Given the description of an element on the screen output the (x, y) to click on. 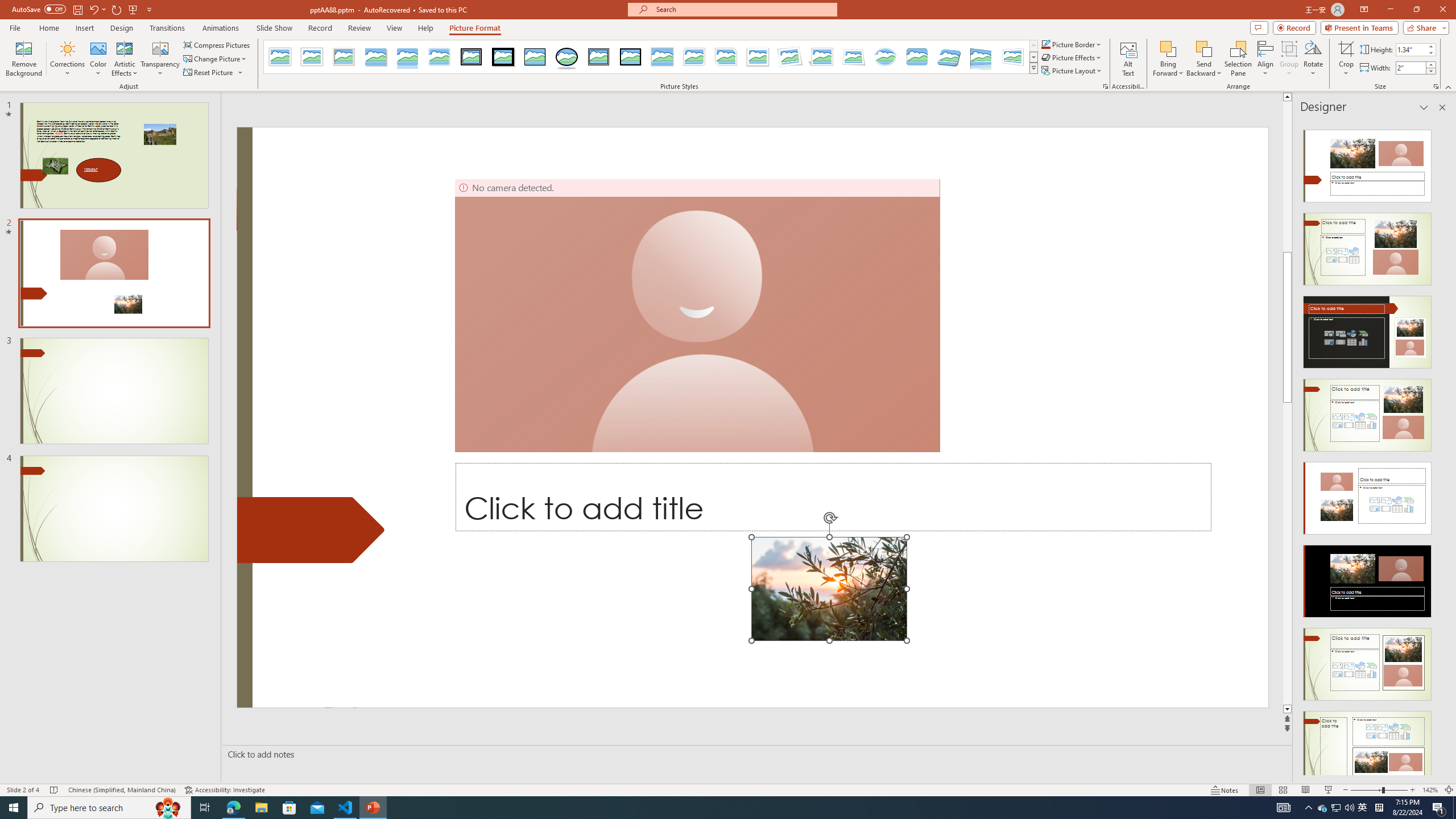
Design Idea (1366, 743)
Bevel Perspective Left, White (1013, 56)
Moderate Frame, White (758, 56)
Group (1288, 58)
Shape Width (1410, 67)
Picture Effects (1072, 56)
